Given the description of an element on the screen output the (x, y) to click on. 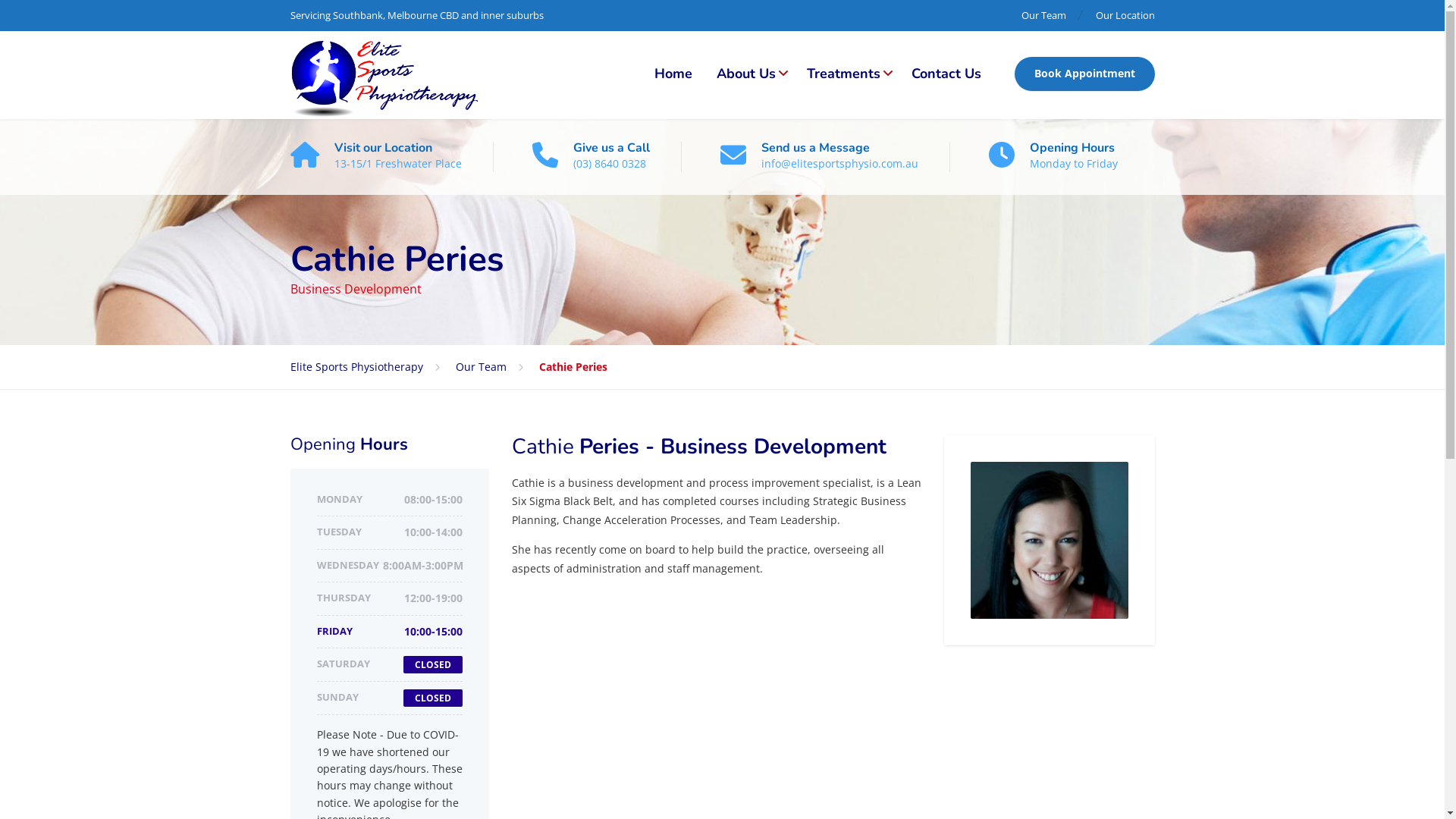
About Us Element type: text (748, 73)
Our Location Element type: text (1118, 15)
Our Team Element type: text (496, 366)
Elite Sports Physiotherapy Element type: hover (384, 75)
Book Appointment Element type: text (1084, 73)
Our Team Element type: text (1049, 15)
Home Element type: text (672, 73)
Treatments Element type: text (846, 73)
Elite Sports Physiotherapy Element type: text (372, 366)
Contact Us Element type: text (945, 73)
